Given the description of an element on the screen output the (x, y) to click on. 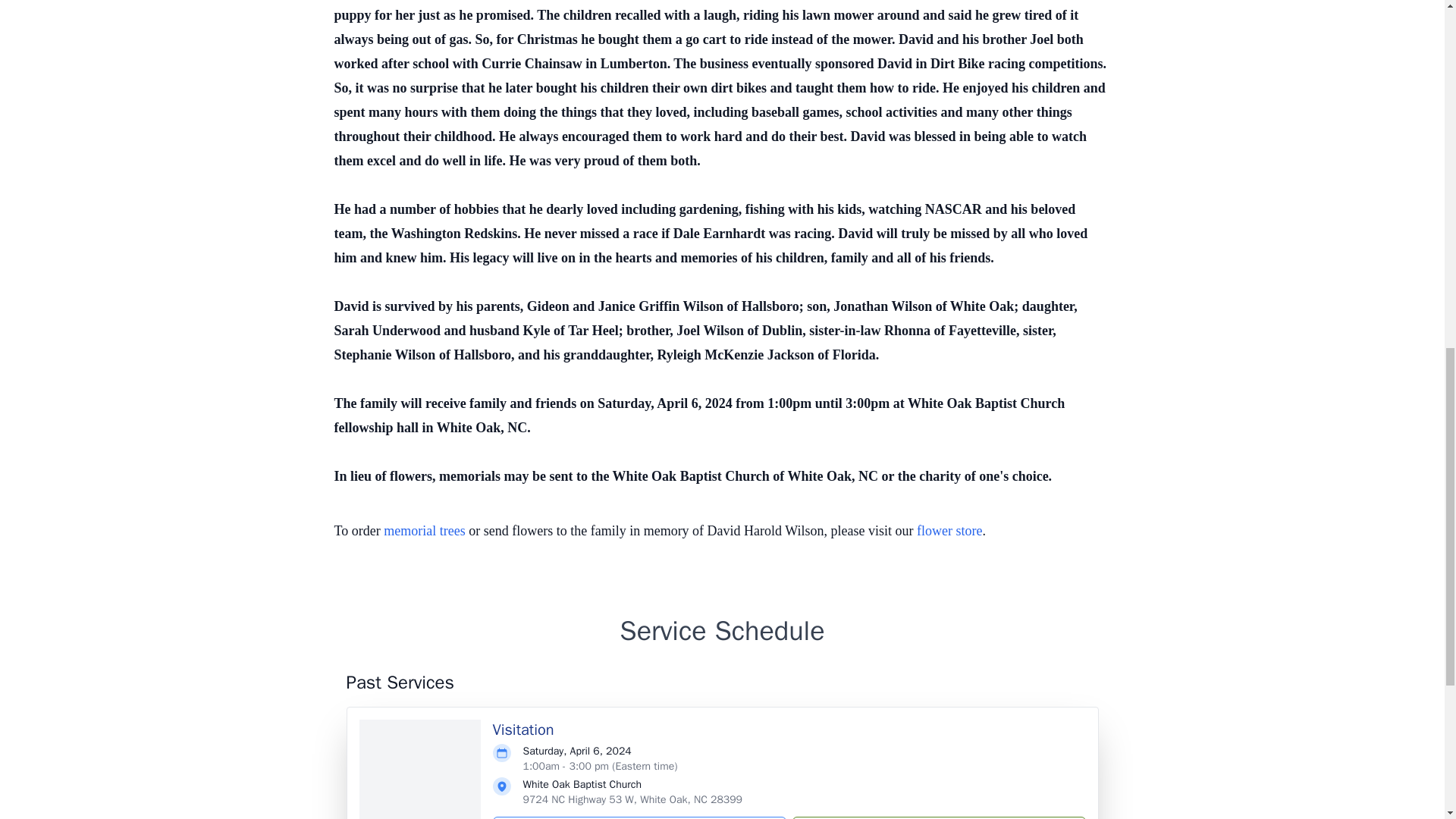
flower store (949, 530)
memorial trees (424, 530)
9724 NC Highway 53 W, White Oak, NC 28399 (632, 799)
